Given the description of an element on the screen output the (x, y) to click on. 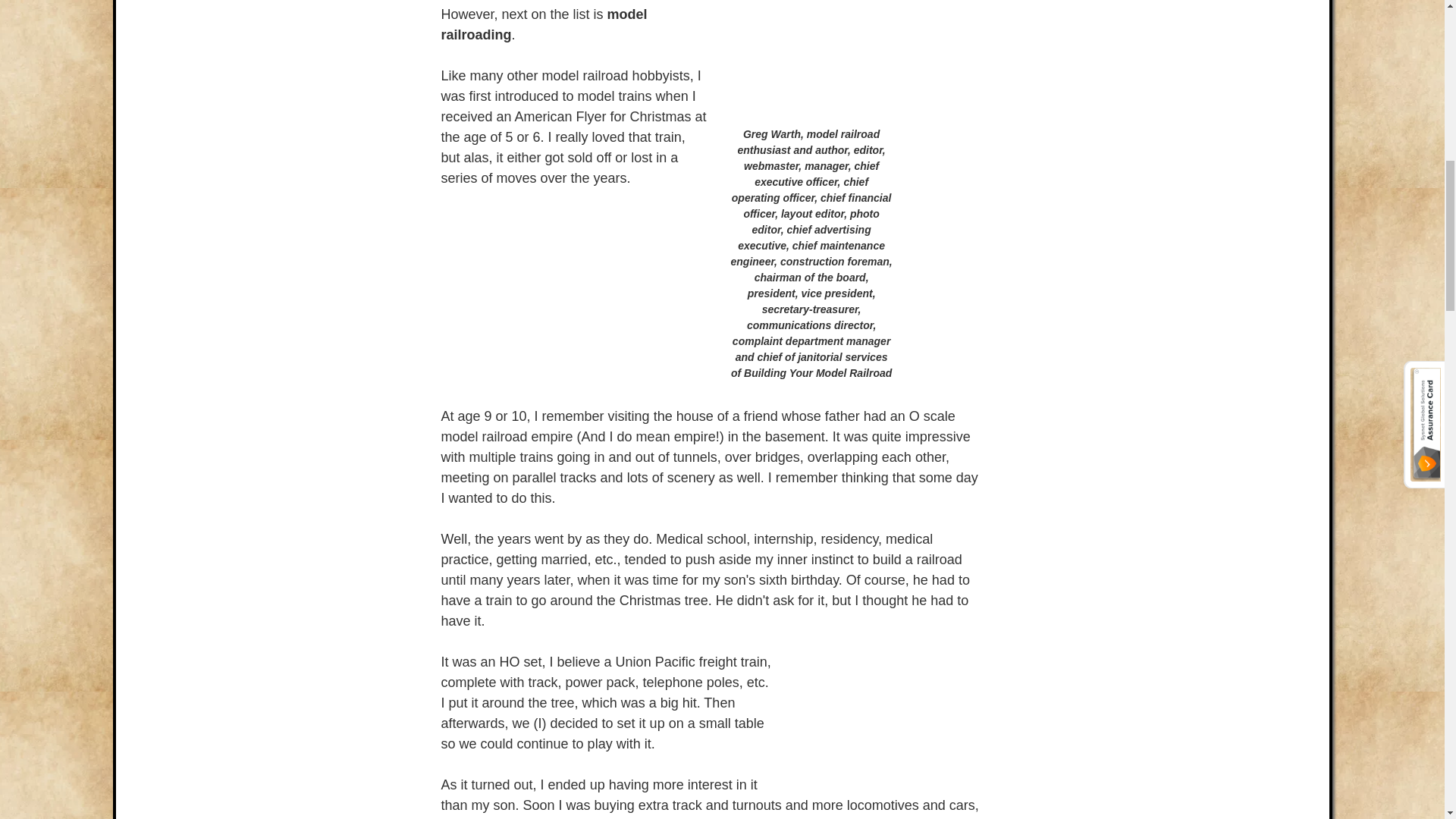
American Flyer S scale steam engine (574, 297)
S- Scale Caboose (889, 714)
